Given the description of an element on the screen output the (x, y) to click on. 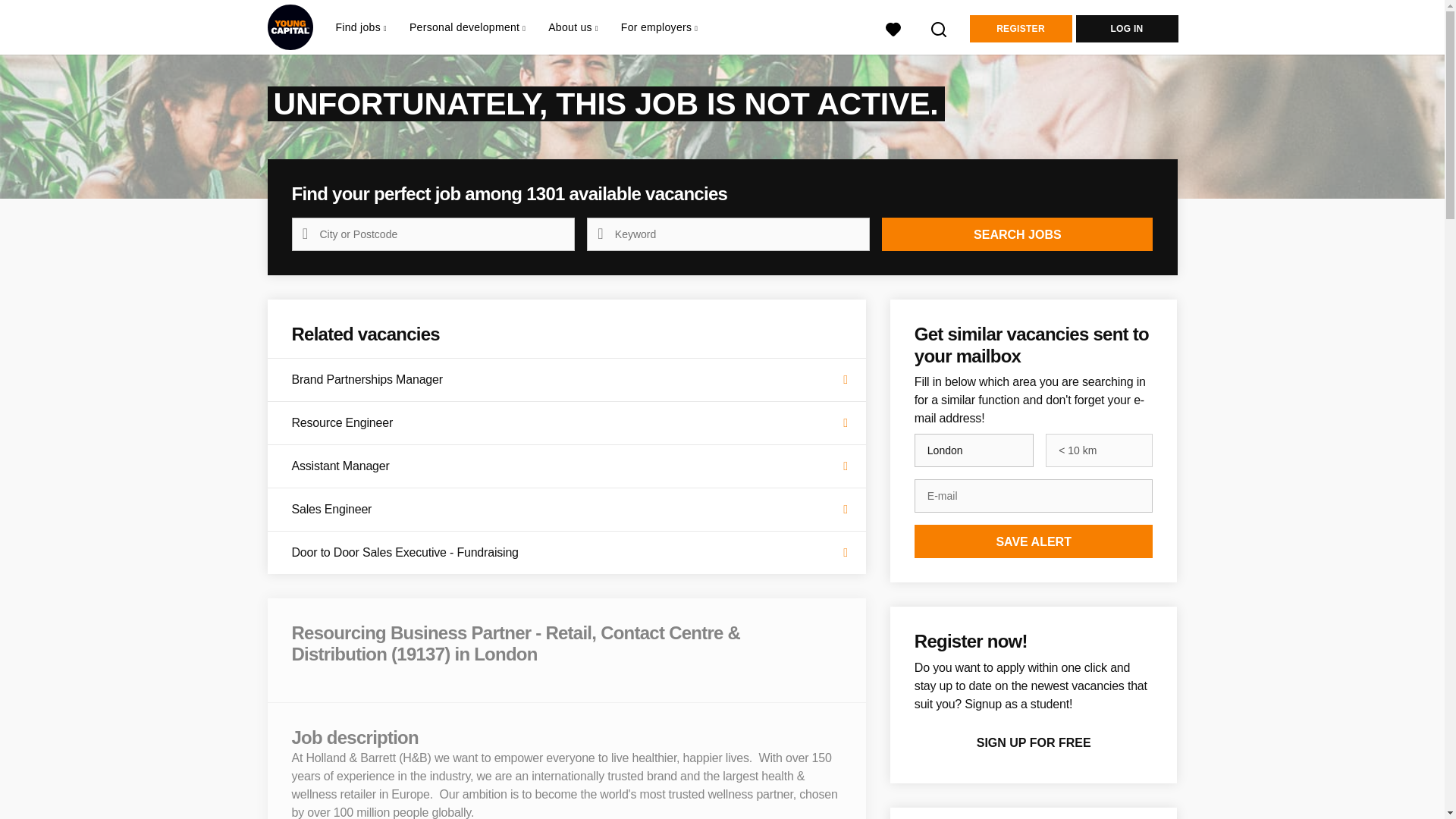
London (973, 450)
StudentJob UK (289, 26)
